Given the description of an element on the screen output the (x, y) to click on. 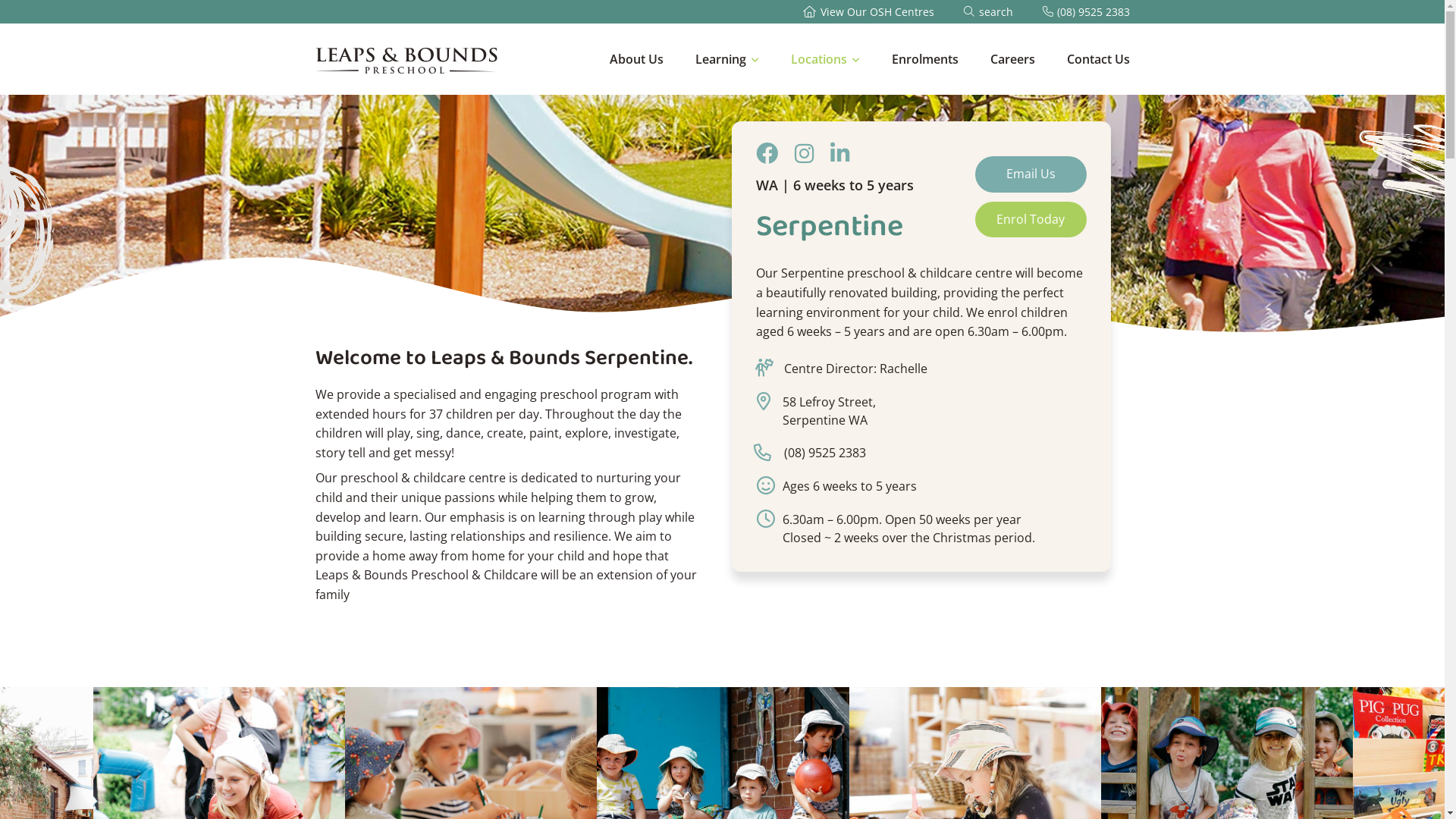
(08) 9525 2383 Element type: text (824, 452)
View Our OSH Centres Element type: text (867, 11)
(08) 9525 2383 Element type: text (1085, 11)
Learning Element type: text (726, 72)
Locations Element type: text (824, 72)
Enrol Today Element type: text (1030, 219)
About Us Element type: text (636, 72)
Contact Us Element type: text (1097, 72)
Careers Element type: text (1012, 72)
search Element type: text (987, 11)
Enrolments Element type: text (924, 72)
58 Lefroy Street,
Serpentine WA Element type: text (828, 410)
Email Us Element type: text (1030, 174)
